Given the description of an element on the screen output the (x, y) to click on. 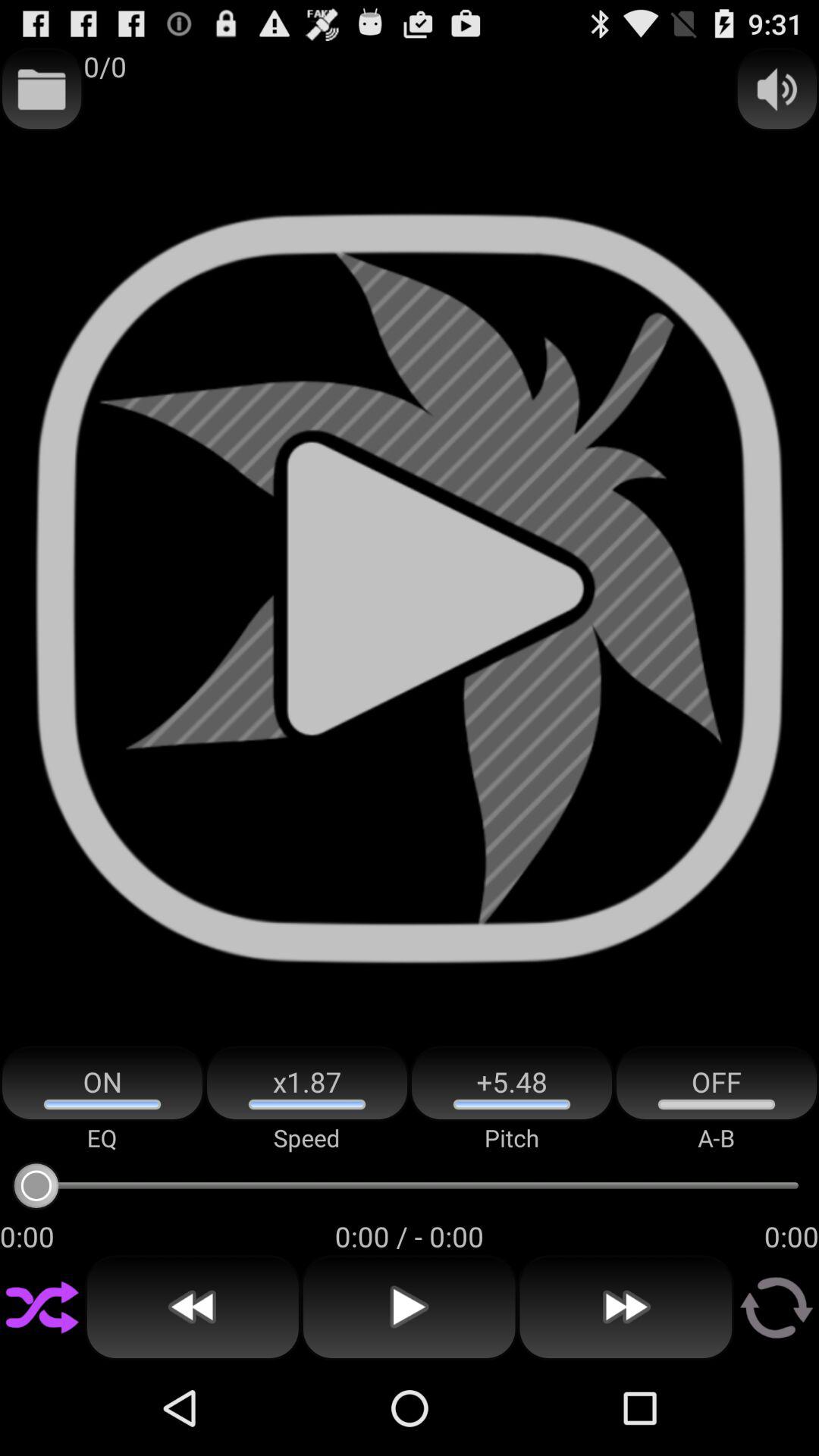
jump to the off (716, 1083)
